Given the description of an element on the screen output the (x, y) to click on. 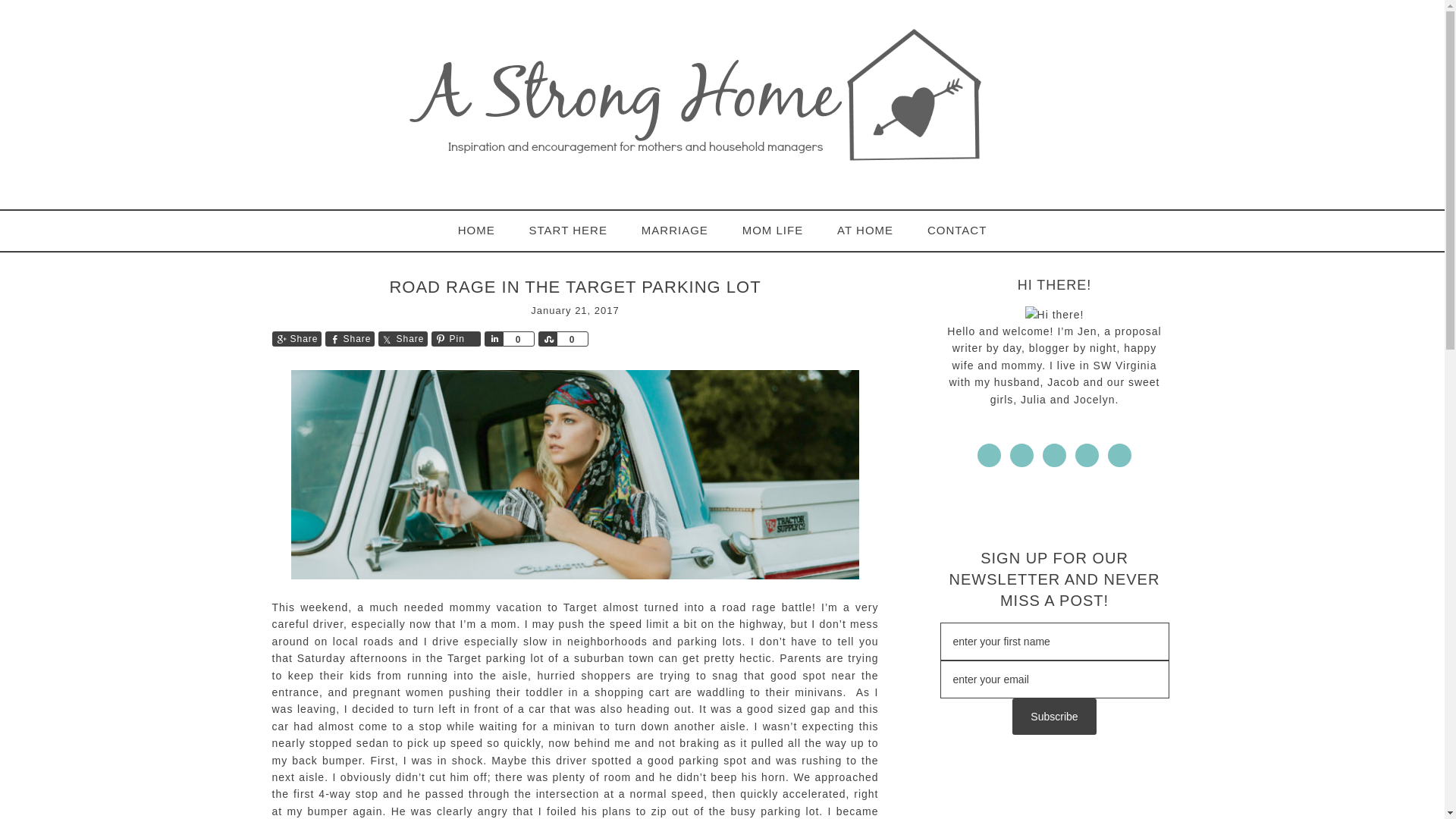
Share (401, 338)
0 (518, 338)
MARRIAGE (674, 230)
enter your email (1054, 679)
CONTACT (956, 230)
enter your first name (1054, 641)
0 (572, 338)
MOM LIFE (772, 230)
Share (295, 338)
Share (547, 338)
START HERE (568, 230)
Subscribe (1053, 716)
AT HOME (865, 230)
ROAD RAGE IN THE TARGET PARKING LOT (574, 286)
